Given the description of an element on the screen output the (x, y) to click on. 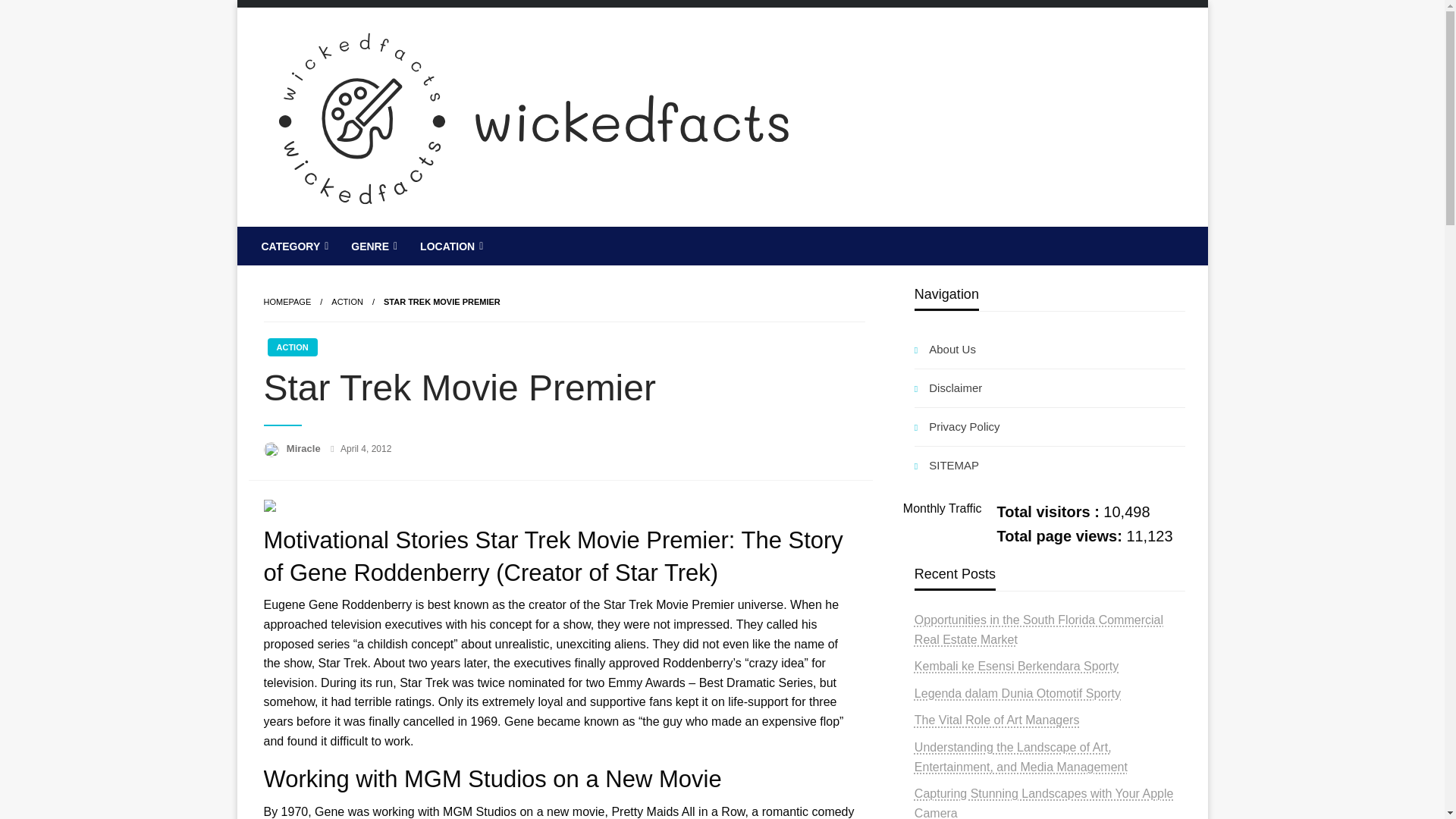
ACTION (291, 347)
Miracle (304, 448)
HOMEPAGE (287, 301)
Star Trek Movie Premier (442, 301)
Wickedfacts (345, 238)
Homepage (287, 301)
ACTION (346, 301)
Action (346, 301)
Miracle (304, 448)
CATEGORY (293, 246)
